Given the description of an element on the screen output the (x, y) to click on. 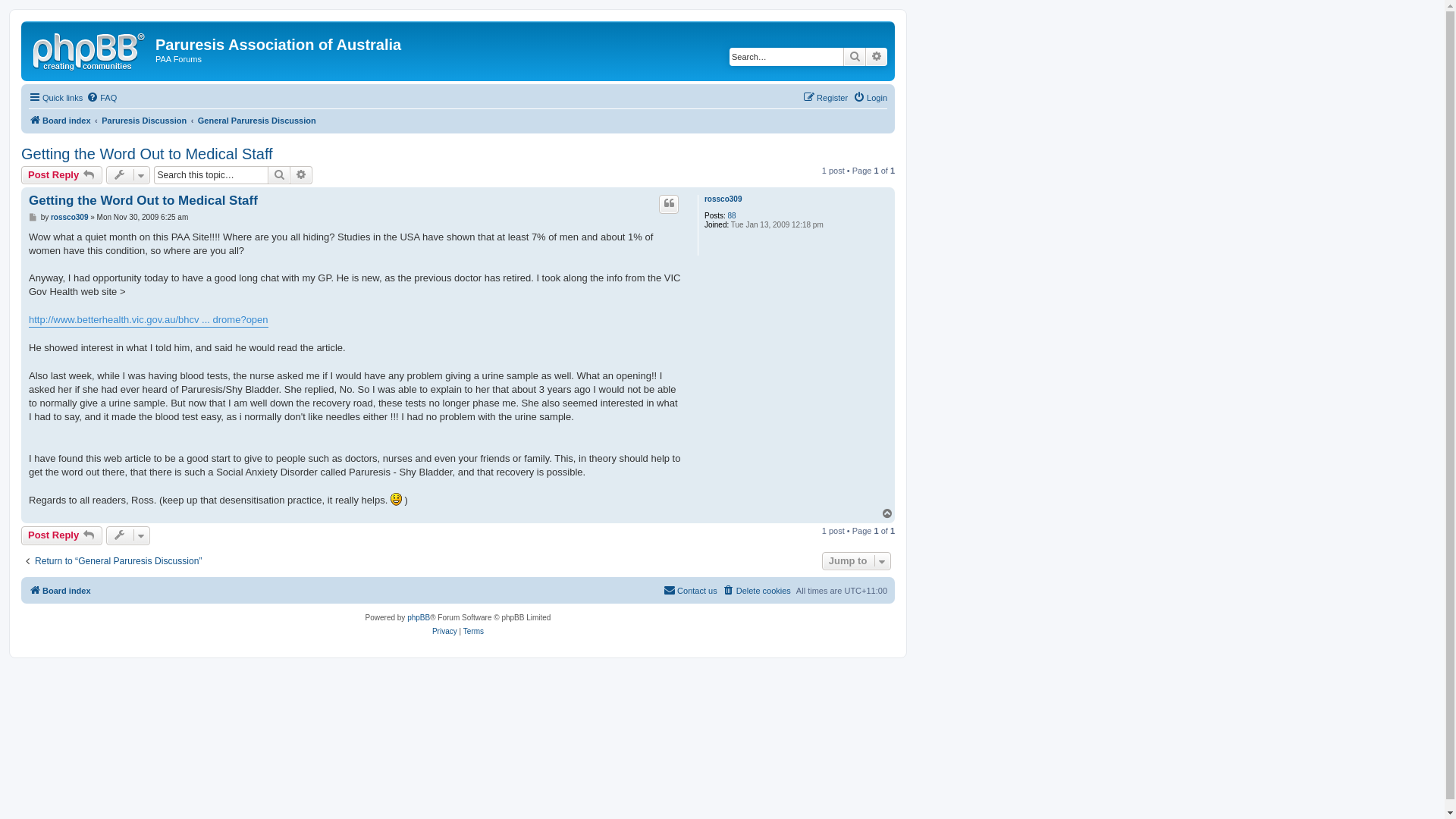
Topic tools Element type: hover (128, 175)
Topic tools Element type: hover (128, 535)
General Paruresis Discussion Element type: text (256, 120)
Quick links Element type: text (55, 97)
Advanced search Element type: text (876, 56)
Getting the Word Out to Medical Staff Element type: text (142, 200)
Post Element type: text (33, 217)
Getting the Word Out to Medical Staff Element type: text (147, 154)
rossco309 Element type: text (722, 198)
Register Element type: text (825, 97)
Delete cookies Element type: text (756, 590)
FAQ Element type: text (101, 97)
Login Element type: text (870, 97)
Board index Element type: hover (90, 49)
Smile Element type: hover (395, 498)
Search for keywords Element type: hover (786, 56)
Top Element type: text (887, 513)
Search Element type: text (278, 175)
Terms Element type: text (473, 631)
Paruresis Discussion Element type: text (143, 120)
88 Element type: text (732, 215)
Post Reply Element type: text (61, 175)
Quote Element type: text (668, 203)
Privacy Element type: text (444, 631)
Contact us Element type: text (690, 590)
Board index Element type: text (59, 590)
Search Element type: text (854, 56)
rossco309 Element type: text (68, 217)
Post Reply Element type: text (61, 535)
Board index Element type: text (59, 120)
Advanced search Element type: text (301, 175)
http://www.betterhealth.vic.gov.au/bhcv ... drome?open Element type: text (148, 320)
phpBB Element type: text (418, 617)
